Given the description of an element on the screen output the (x, y) to click on. 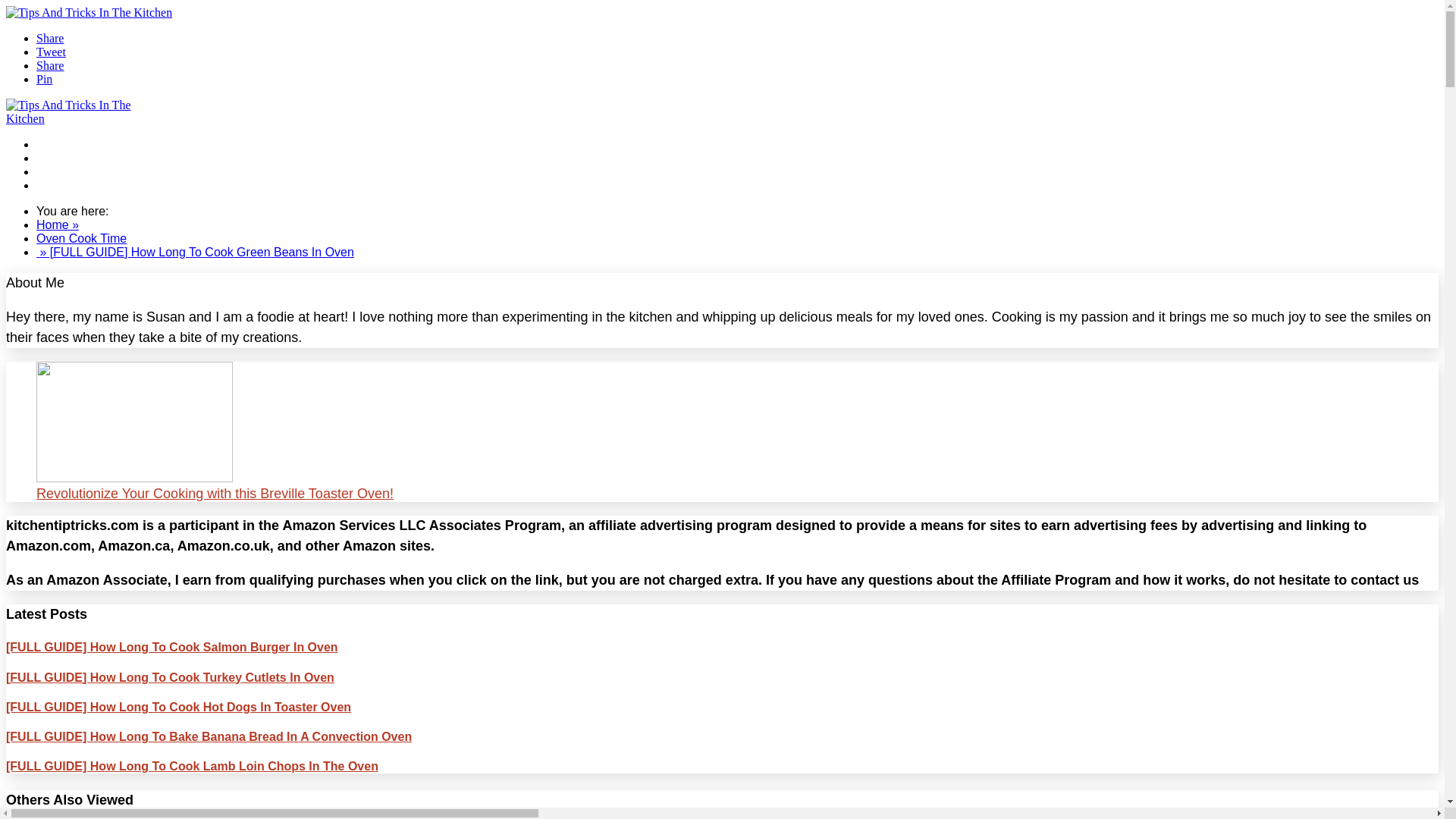
Revolutionize Your Cooking with this Breville Toaster Oven! (721, 486)
Air Fryer Recipes (83, 185)
Freezing Tips (72, 157)
Tweet (50, 51)
Oven Cook Time (81, 237)
Share (50, 65)
Cooking Tips (71, 171)
Oven Cook Time (81, 144)
Share (50, 38)
Pin (44, 78)
